Given the description of an element on the screen output the (x, y) to click on. 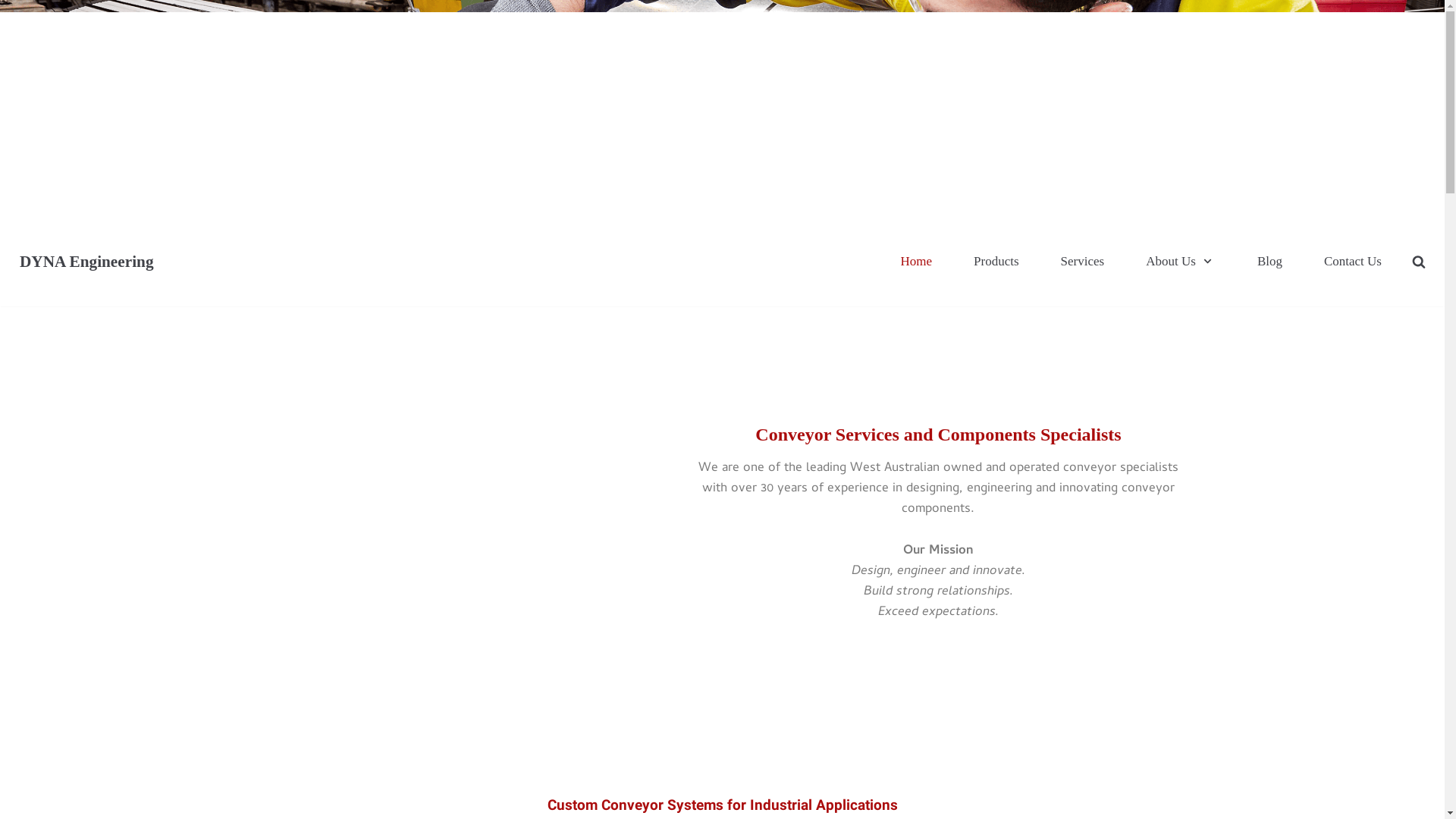
Search Element type: text (1393, 286)
Skip to content Element type: text (15, 7)
DYNA Engineering Element type: text (82, 261)
Services Element type: text (1082, 261)
Products Element type: text (996, 261)
Home Element type: text (916, 261)
About Us Element type: text (1180, 261)
Contact Us Element type: text (1352, 261)
Blog Element type: text (1269, 261)
